Given the description of an element on the screen output the (x, y) to click on. 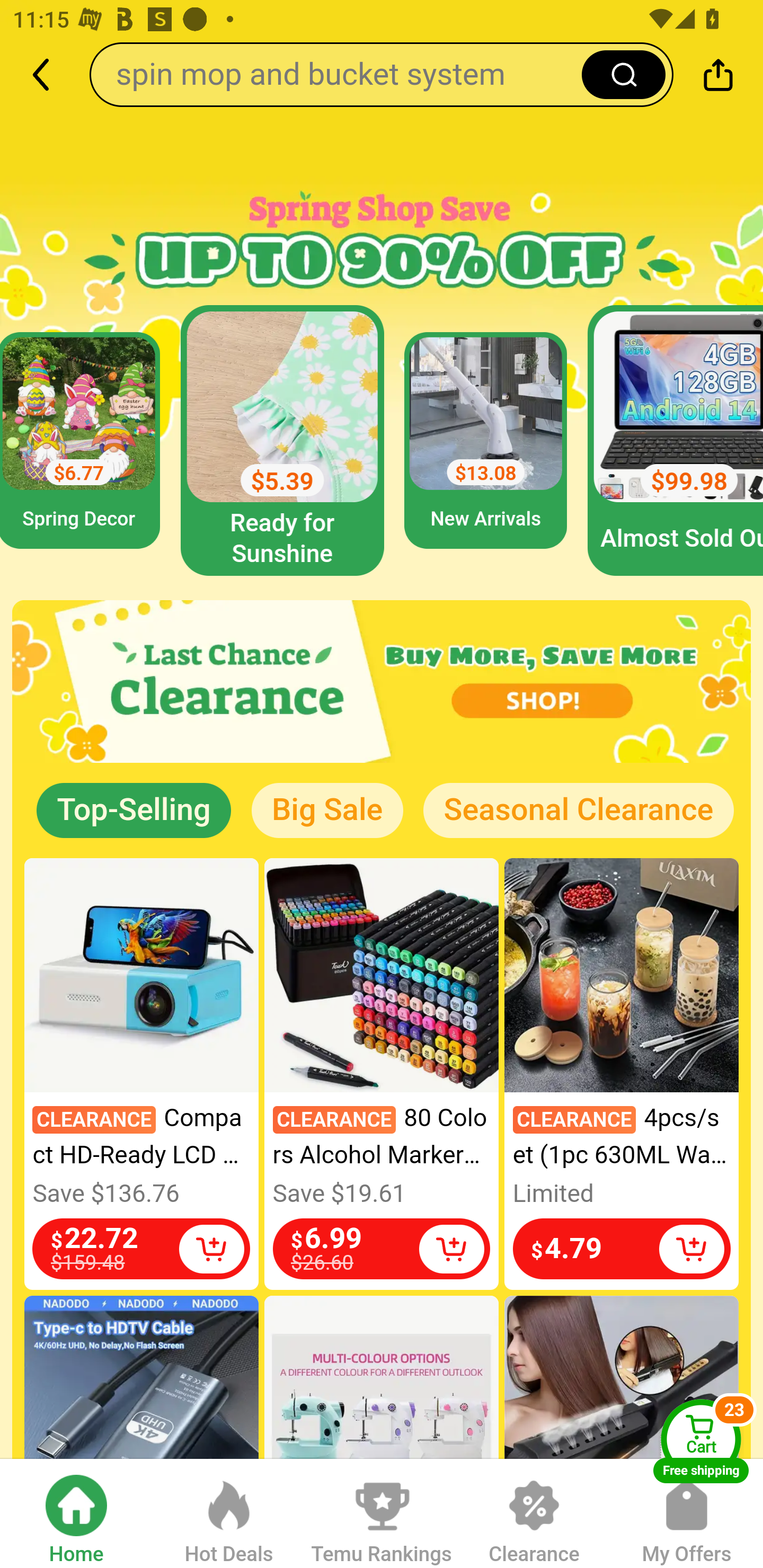
webp (381, 681)
Top-Selling (133, 810)
Big Sale (327, 810)
Seasonal Clearance (578, 810)
Cart Free shipping Cart (701, 1440)
webp Home (76, 1512)
webp Hot Deals (228, 1512)
webp Temu Rankings (381, 1512)
webp Clearance (533, 1512)
webp My Offers (686, 1512)
